Given the description of an element on the screen output the (x, y) to click on. 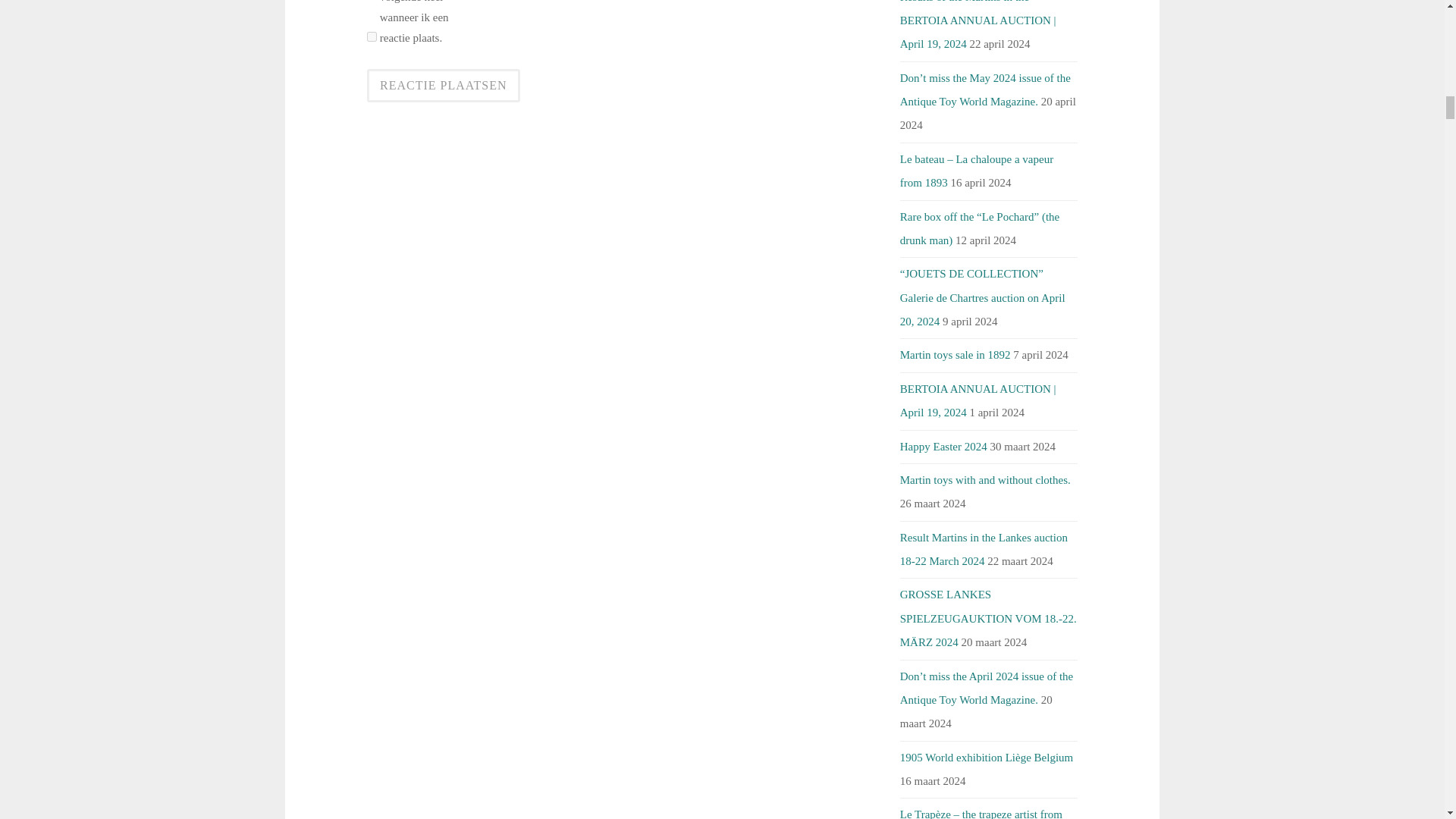
yes (371, 36)
Reactie plaatsen (442, 85)
Reactie plaatsen (442, 85)
